Given the description of an element on the screen output the (x, y) to click on. 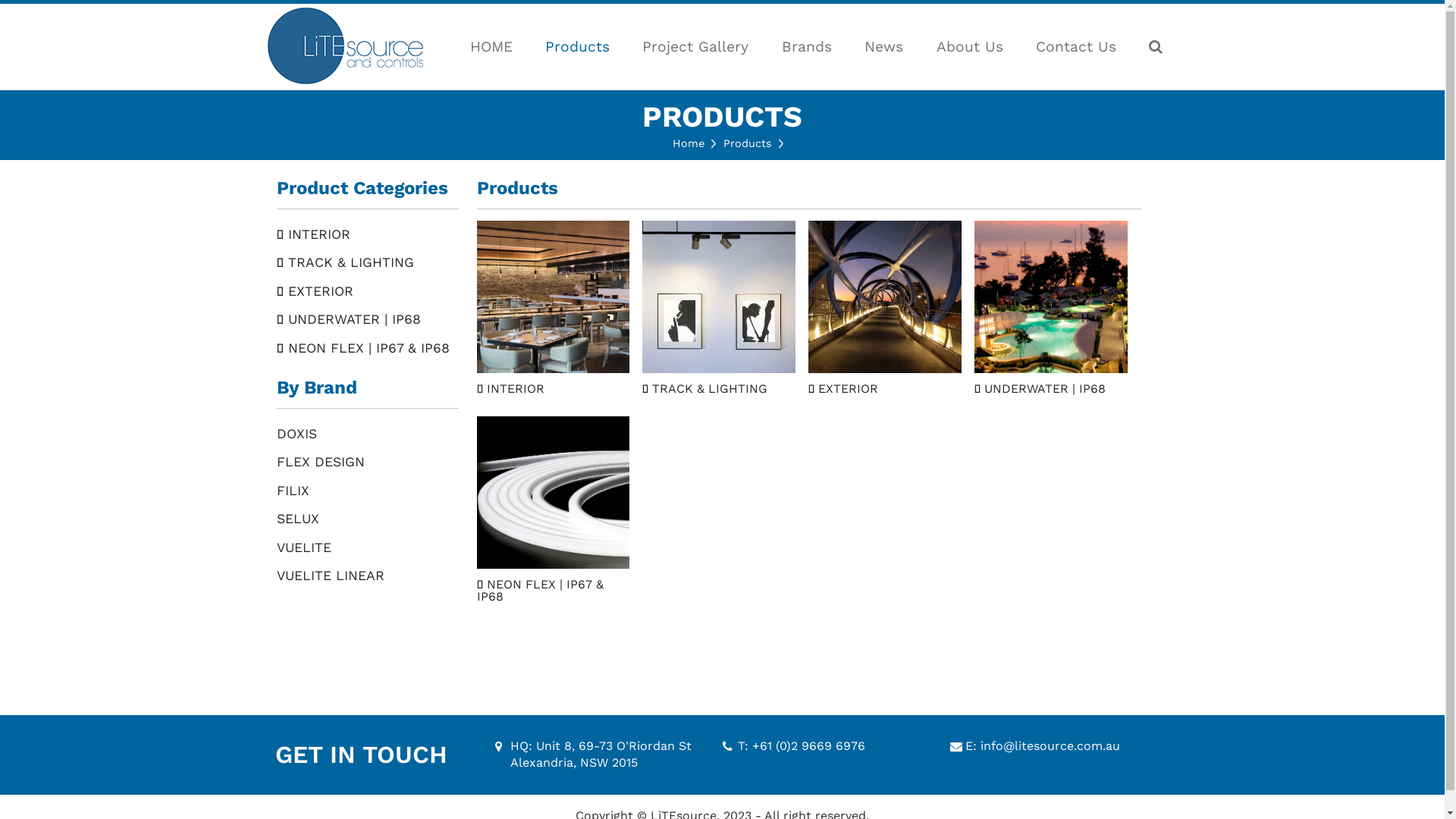
Products Element type: text (577, 46)
HOME Element type: text (490, 46)
Brands Element type: text (806, 46)
SELUX Element type: text (367, 519)
info@litesource.com.au Element type: text (1049, 745)
Contact Us Element type: text (1075, 46)
About Us Element type: text (968, 46)
VUELITE LINEAR Element type: text (367, 575)
Products Element type: text (747, 143)
Project Gallery Element type: text (694, 46)
FILIX Element type: text (367, 490)
VUELITE Element type: text (367, 547)
News Element type: text (883, 46)
Home Element type: text (688, 143)
FLEX DESIGN Element type: text (367, 462)
+61 (0)2 9669 6976 Element type: text (808, 745)
DOXIS Element type: text (367, 434)
